Given the description of an element on the screen output the (x, y) to click on. 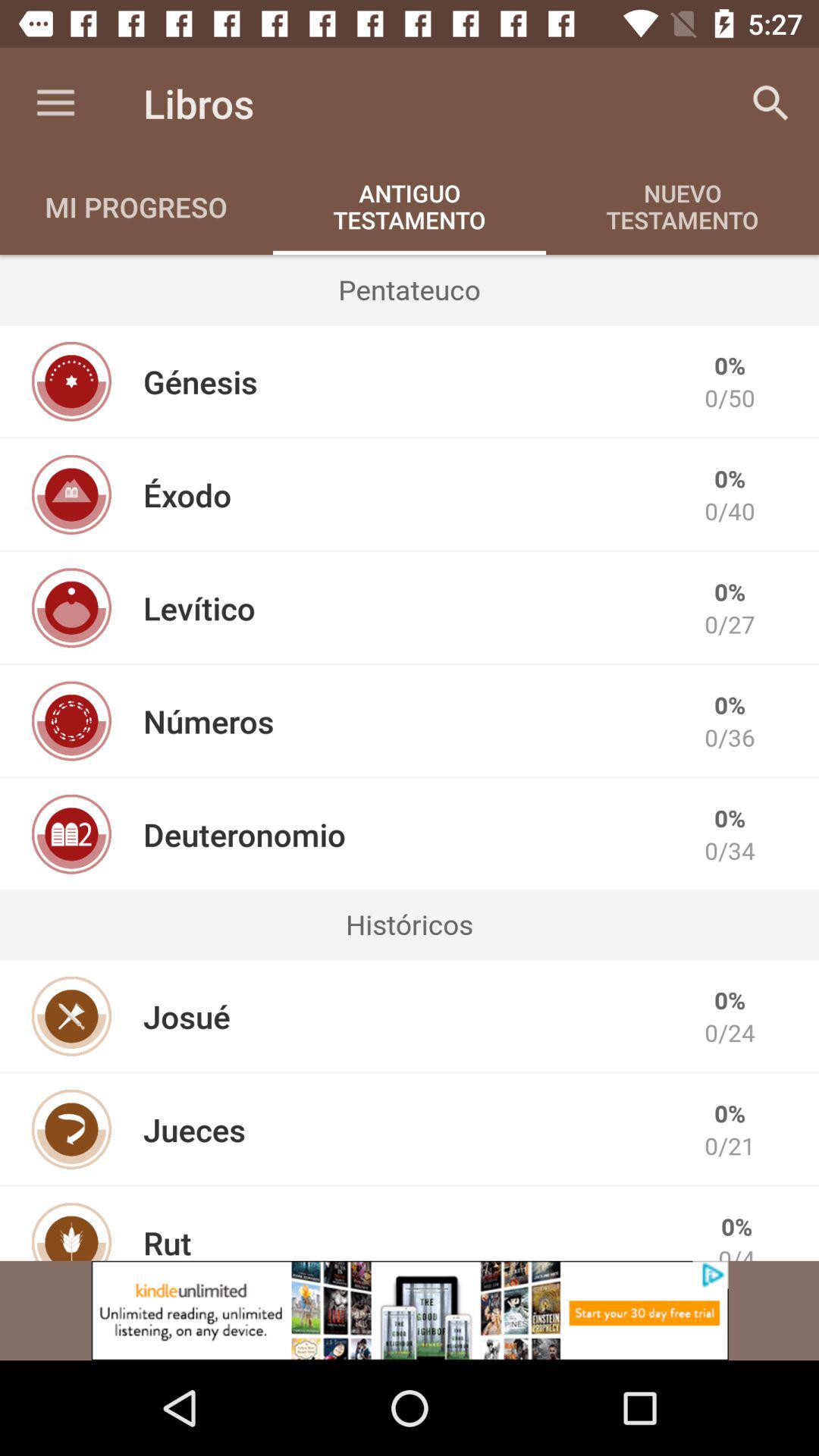
press the item next to the 0/21 (194, 1129)
